Given the description of an element on the screen output the (x, y) to click on. 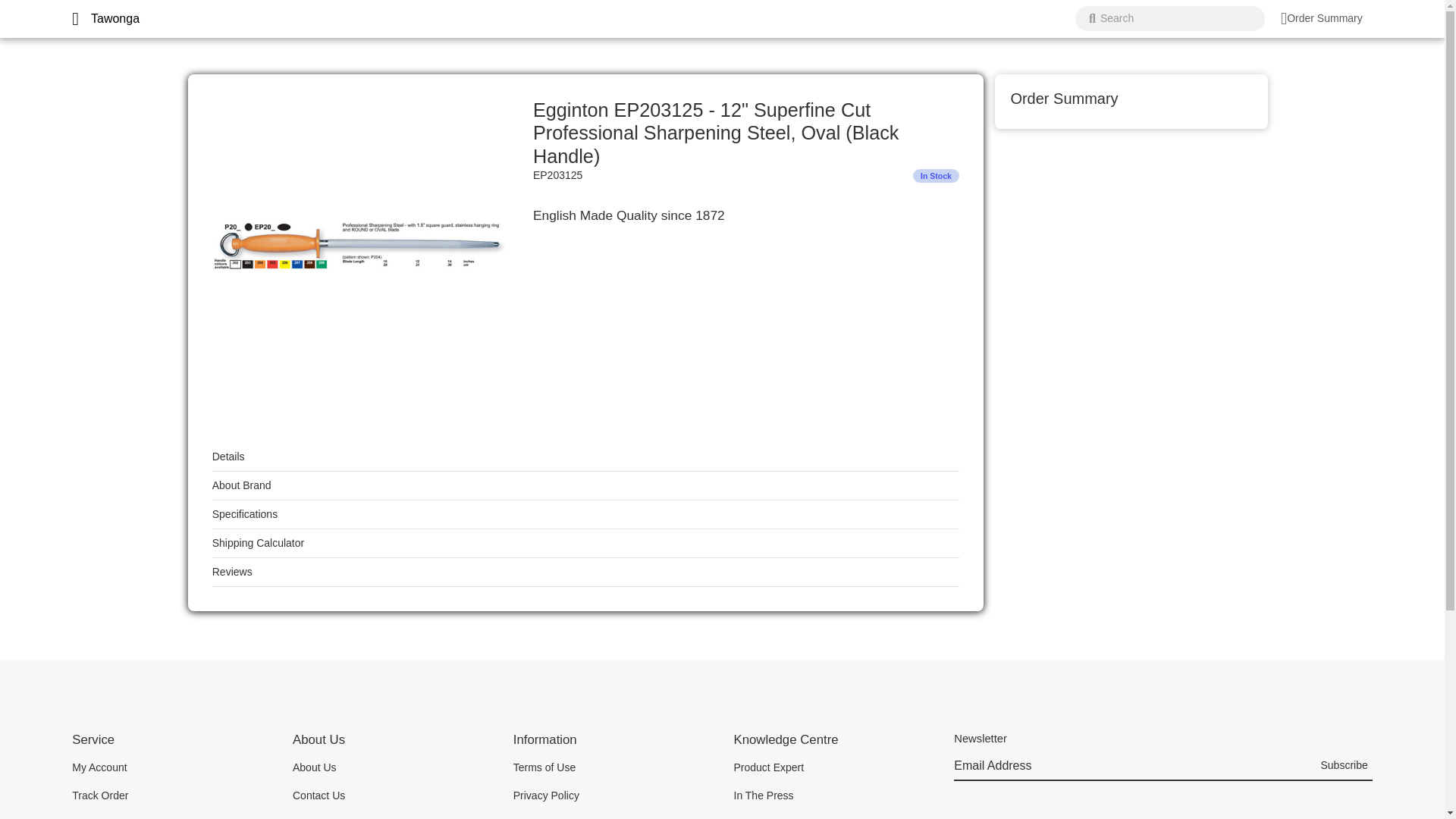
Tawonga (114, 18)
Subscribe (1343, 766)
Order Summary (1322, 18)
